Given the description of an element on the screen output the (x, y) to click on. 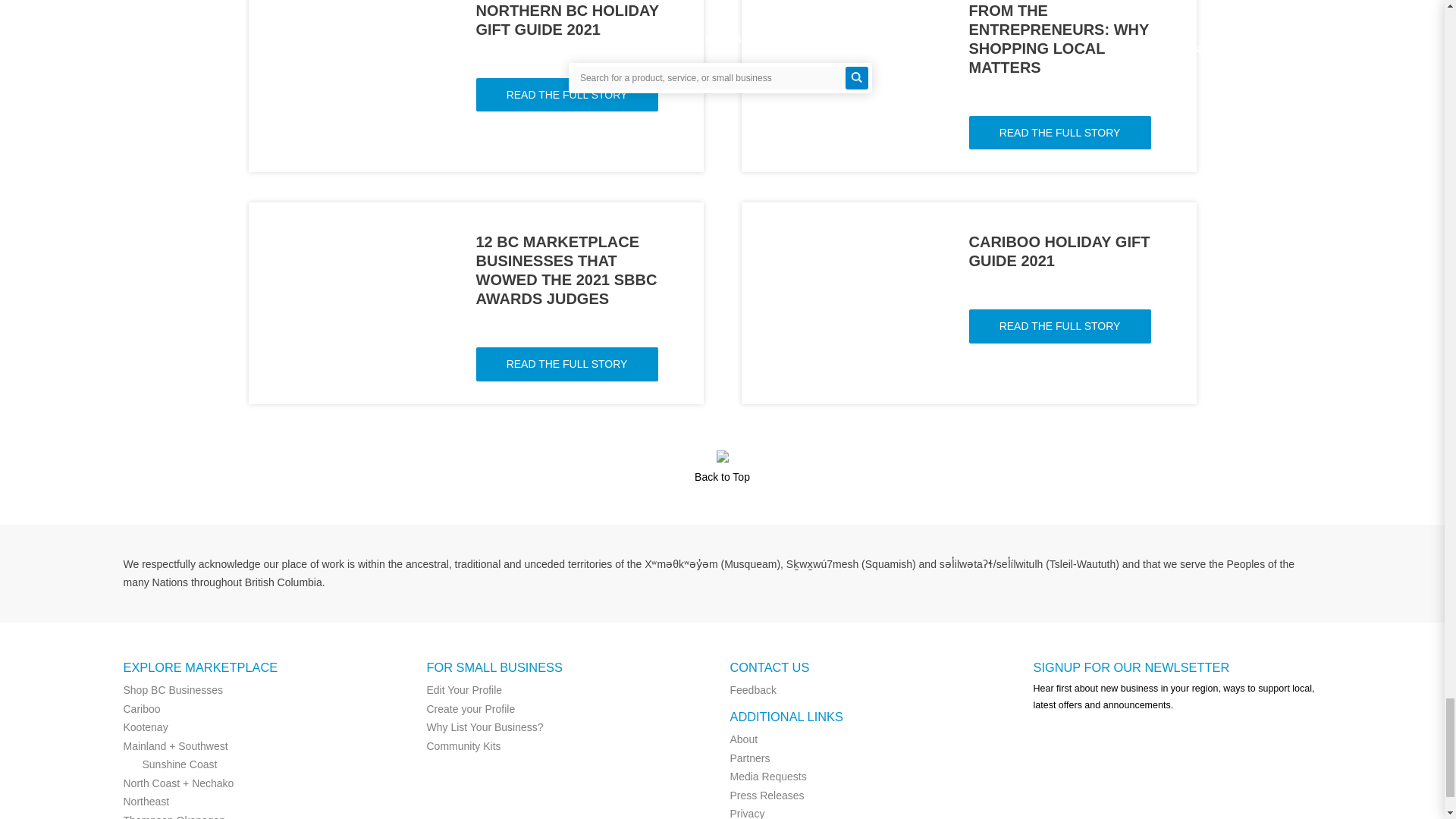
Back to Top (721, 476)
